Given the description of an element on the screen output the (x, y) to click on. 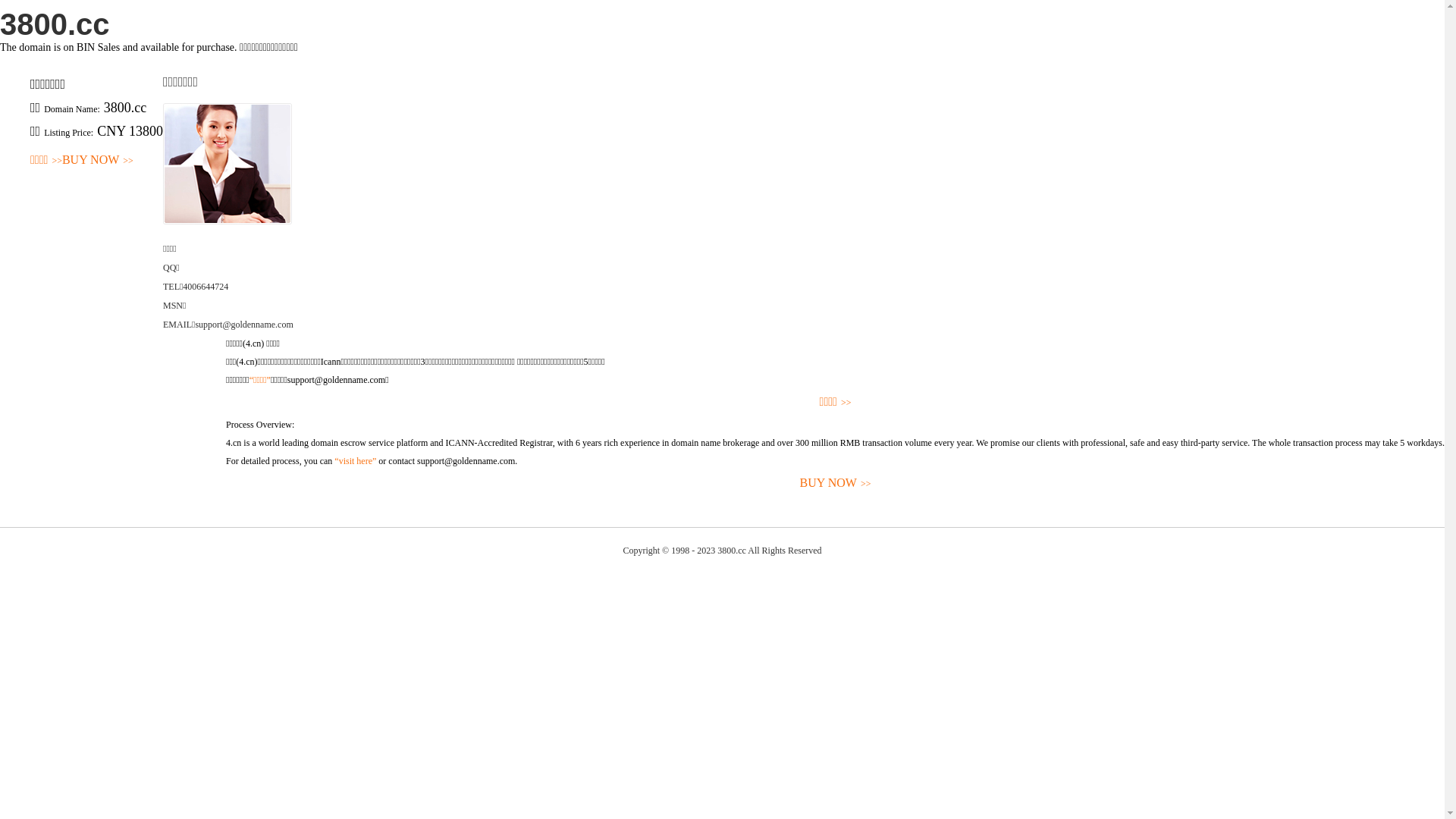
BUY NOW>> Element type: text (834, 483)
BUY NOW>> Element type: text (97, 160)
